Given the description of an element on the screen output the (x, y) to click on. 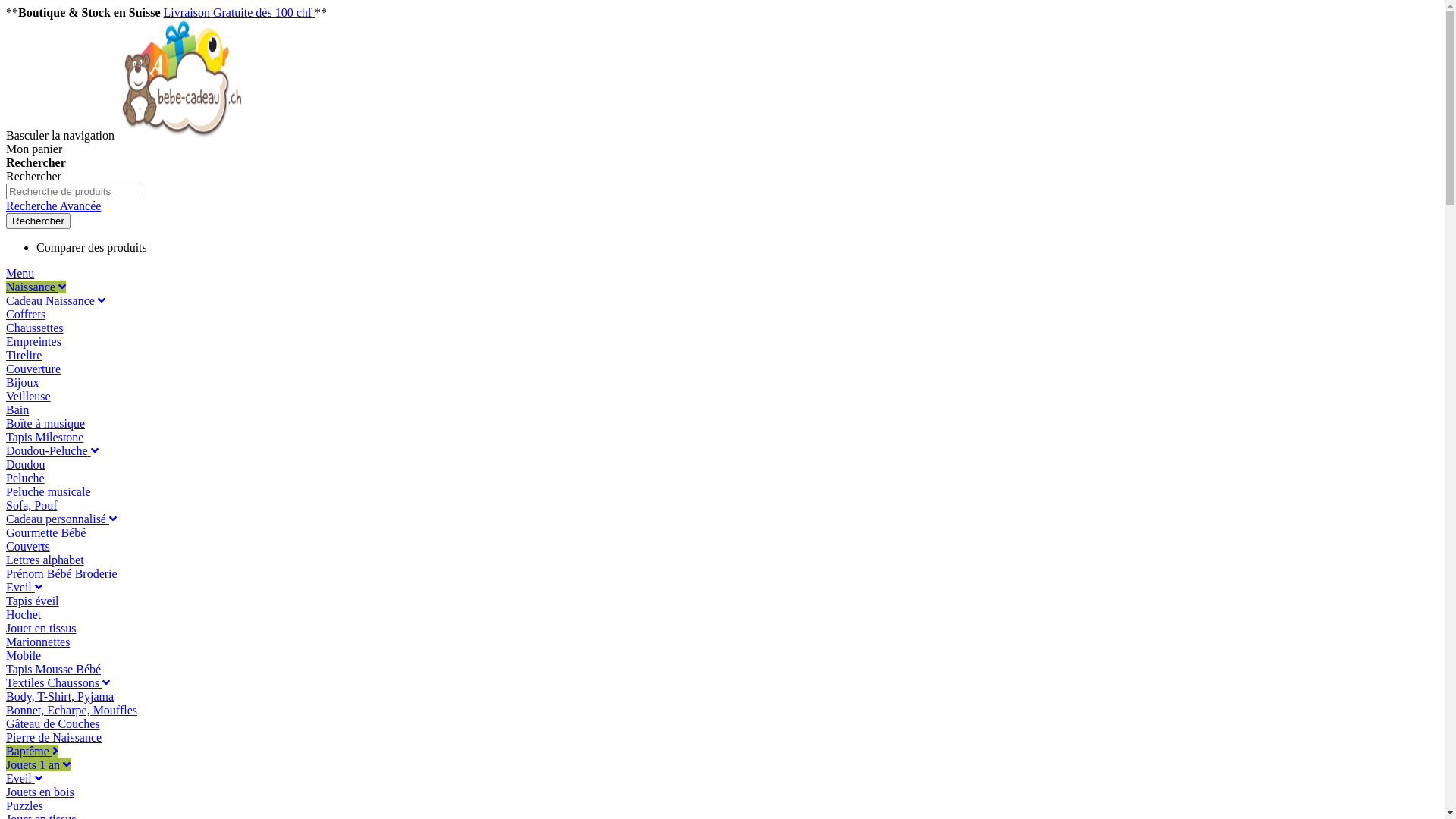
Hochet Element type: text (23, 614)
Jouets 1 an Element type: text (38, 764)
Bijoux Element type: text (22, 382)
Jouet en tissus Element type: text (40, 627)
Naissance Element type: text (35, 286)
Menu Element type: text (20, 272)
Couverture Element type: text (33, 368)
Sofa, Pouf Element type: text (31, 504)
Pierre de Naissance Element type: text (53, 737)
Jouets en bois Element type: text (40, 791)
Tirelire Element type: text (23, 354)
Puzzles Element type: text (24, 805)
Lettres alphabet Element type: text (45, 559)
Peluche musicale Element type: text (48, 491)
Couverts Element type: text (28, 545)
Mobile Element type: text (23, 655)
Bonnet, Echarpe, Mouffles Element type: text (71, 709)
Cadeau Naissance Element type: text (55, 300)
Doudou Element type: text (25, 464)
Textiles Chaussons Element type: text (57, 682)
Doudou-Peluche Element type: text (52, 450)
Peluche Element type: text (25, 477)
Body, T-Shirt, Pyjama Element type: text (59, 696)
Coffrets Element type: text (25, 313)
Veilleuse Element type: text (28, 395)
Eveil Element type: text (24, 777)
Tapis Milestone Element type: text (44, 436)
Empreintes Element type: text (33, 341)
Comparer des produits Element type: text (91, 247)
Bain Element type: text (17, 409)
Rechercher Element type: text (38, 221)
Eveil Element type: text (24, 586)
Marionnettes Element type: text (37, 641)
Chaussettes Element type: text (34, 327)
